Given the description of an element on the screen output the (x, y) to click on. 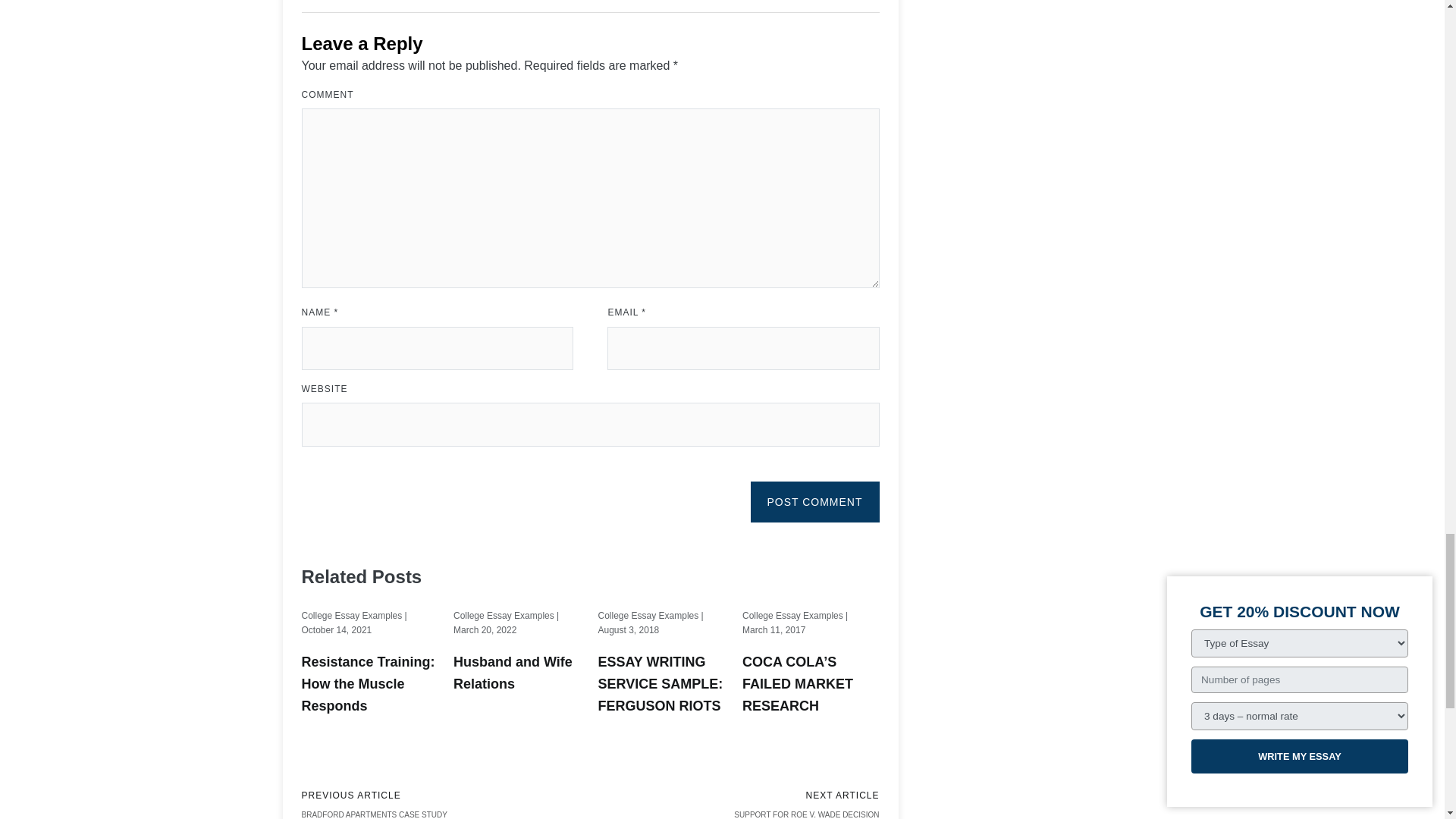
Post Comment (815, 501)
